Given the description of an element on the screen output the (x, y) to click on. 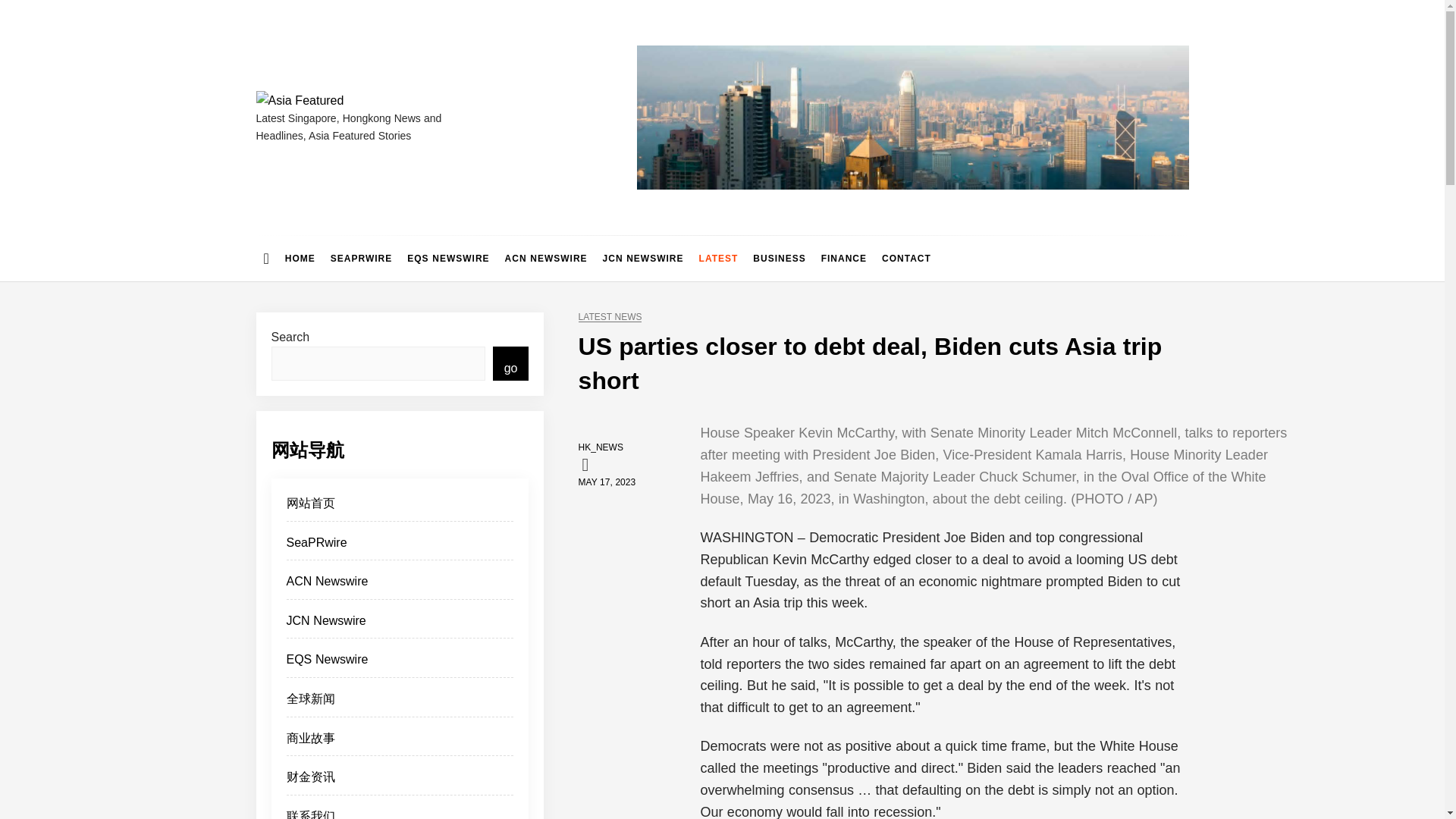
HOME (300, 258)
EQS Newswire (399, 664)
Header Advertise (913, 117)
Asia Featured (341, 124)
BUSINESS (778, 258)
go (511, 363)
SeaPRwire (399, 547)
LATEST NEWS (610, 317)
JCN NEWSWIRE (643, 258)
SEAPRWIRE (360, 258)
